Given the description of an element on the screen output the (x, y) to click on. 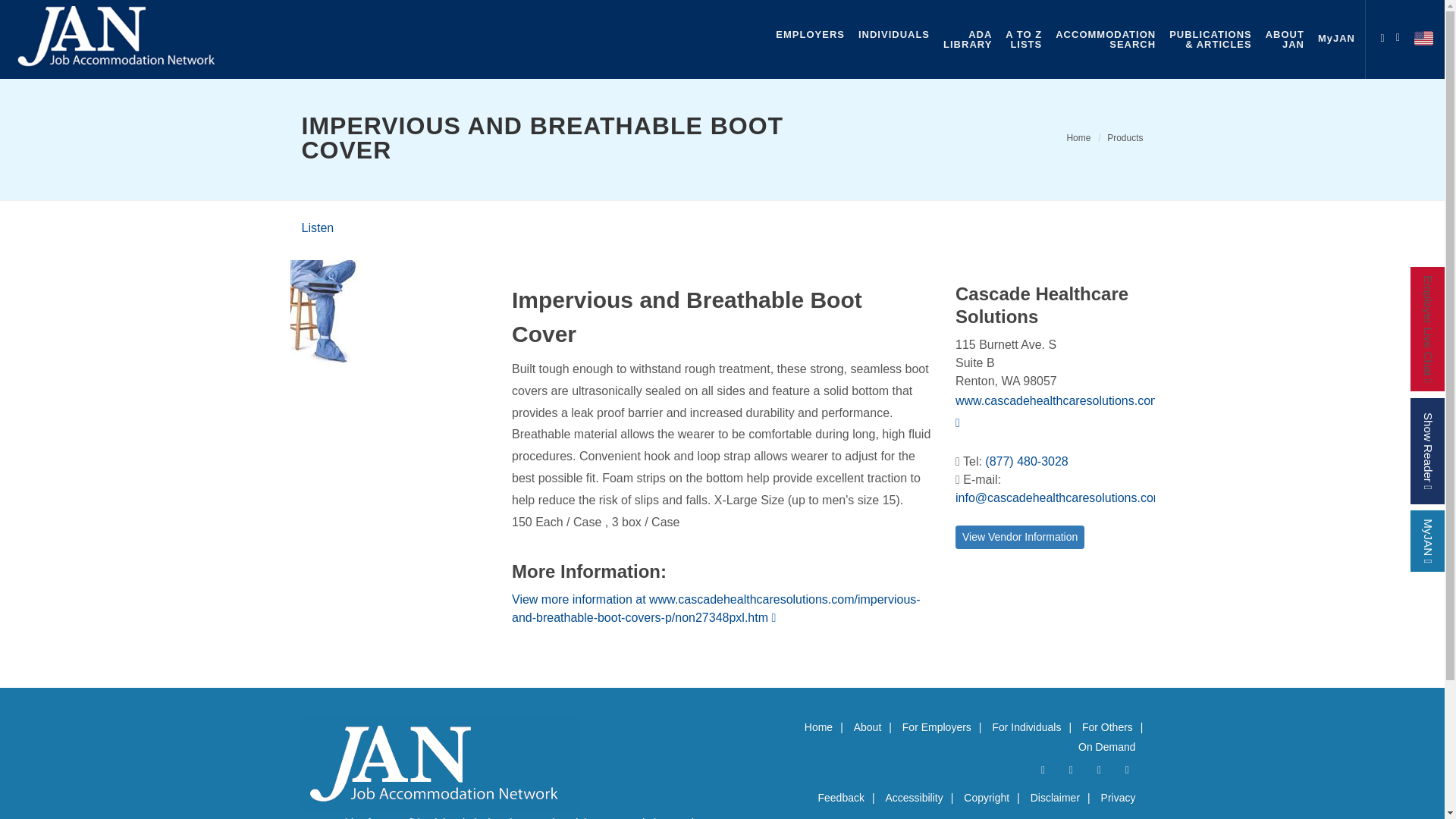
EMPLOYERS (810, 34)
Home (1077, 137)
www.cascadehealthcaresolutions.com (1057, 411)
Open Search (1401, 35)
Products (1124, 137)
Listen (1105, 39)
Open Menu (317, 227)
Listen to this page using ReadSpeaker webReader (1382, 35)
INDIVIDUALS (317, 227)
